Given the description of an element on the screen output the (x, y) to click on. 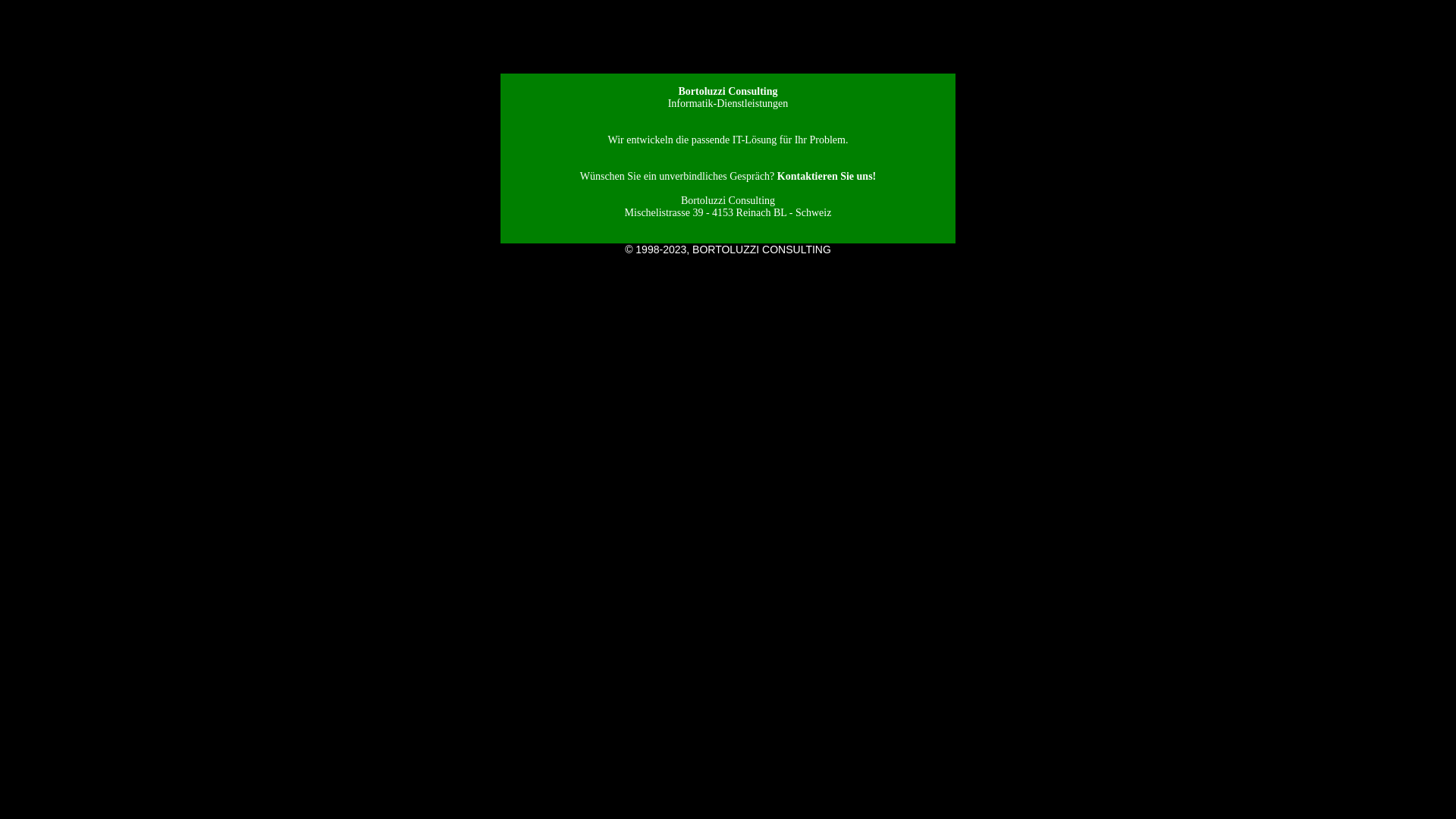
Kontaktieren Sie uns! Element type: text (826, 176)
